Given the description of an element on the screen output the (x, y) to click on. 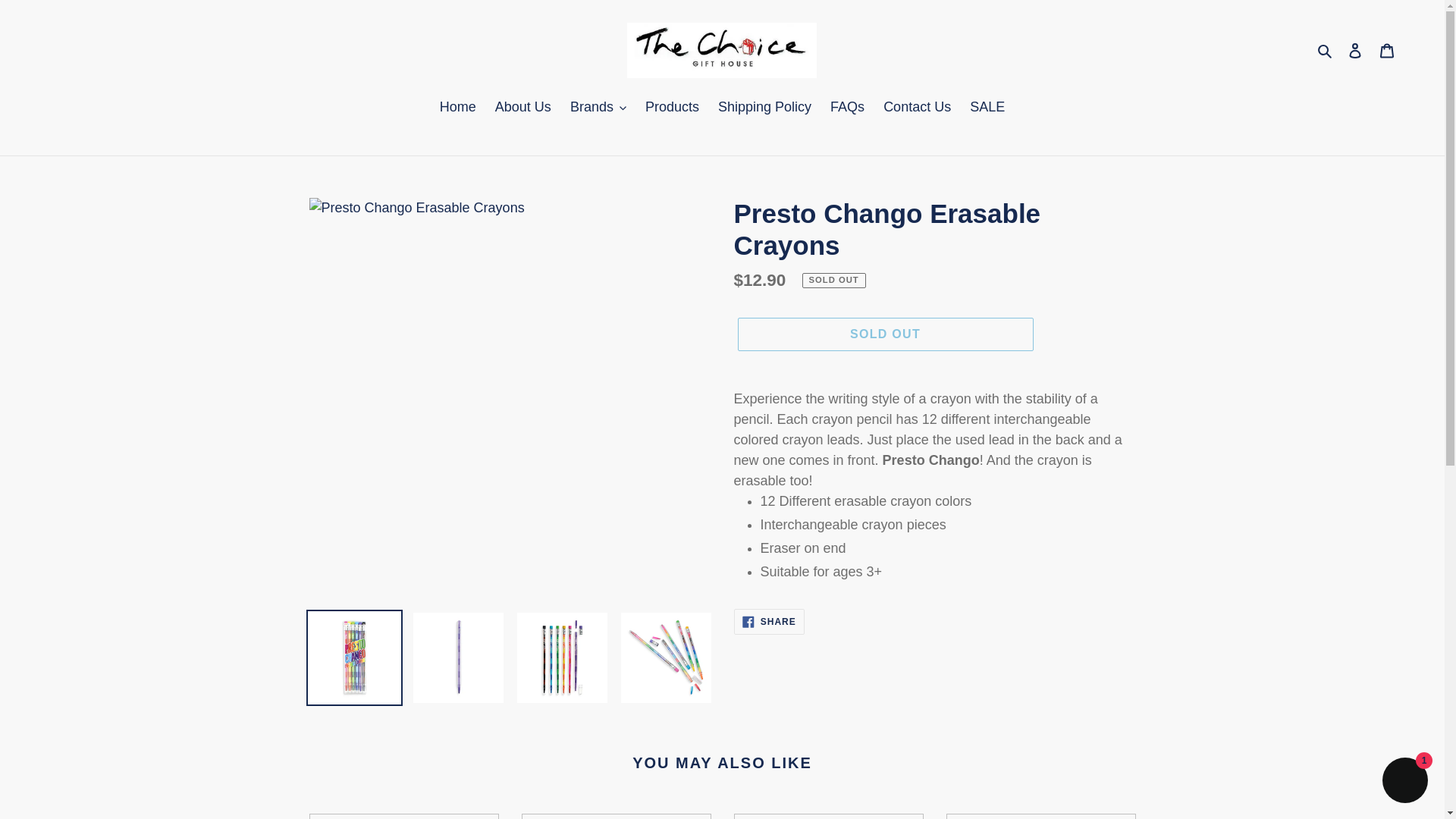
Log in (1355, 49)
Shopify online store chat (1404, 781)
Cart (1387, 49)
Search (1326, 50)
